Given the description of an element on the screen output the (x, y) to click on. 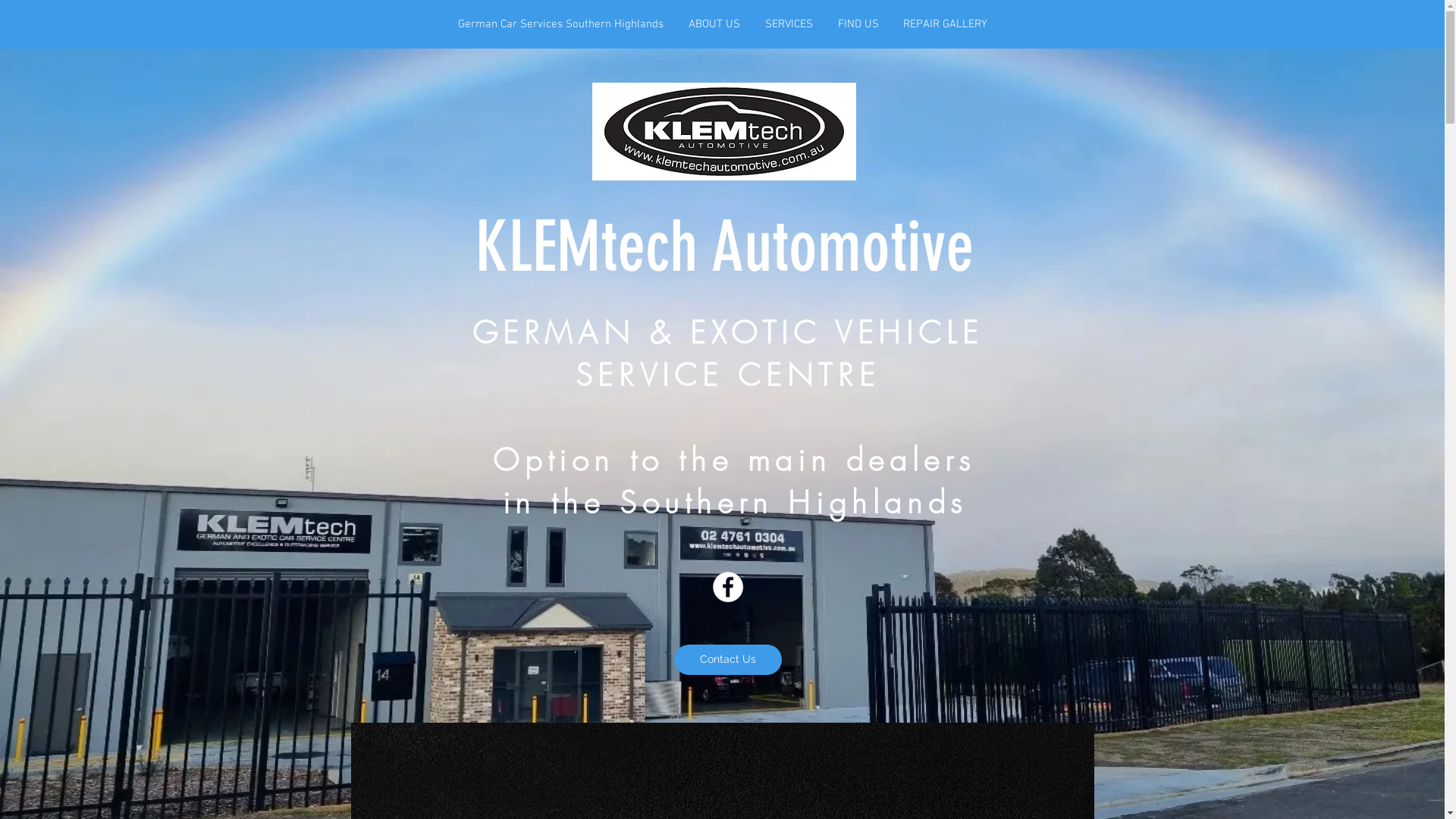
German Car Services Southern Highlands Element type: text (560, 24)
Contact Us Element type: text (727, 659)
SERVICES Element type: text (788, 24)
ABOUT US Element type: text (714, 24)
FIND US Element type: text (857, 24)
REPAIR GALLERY Element type: text (944, 24)
